Given the description of an element on the screen output the (x, y) to click on. 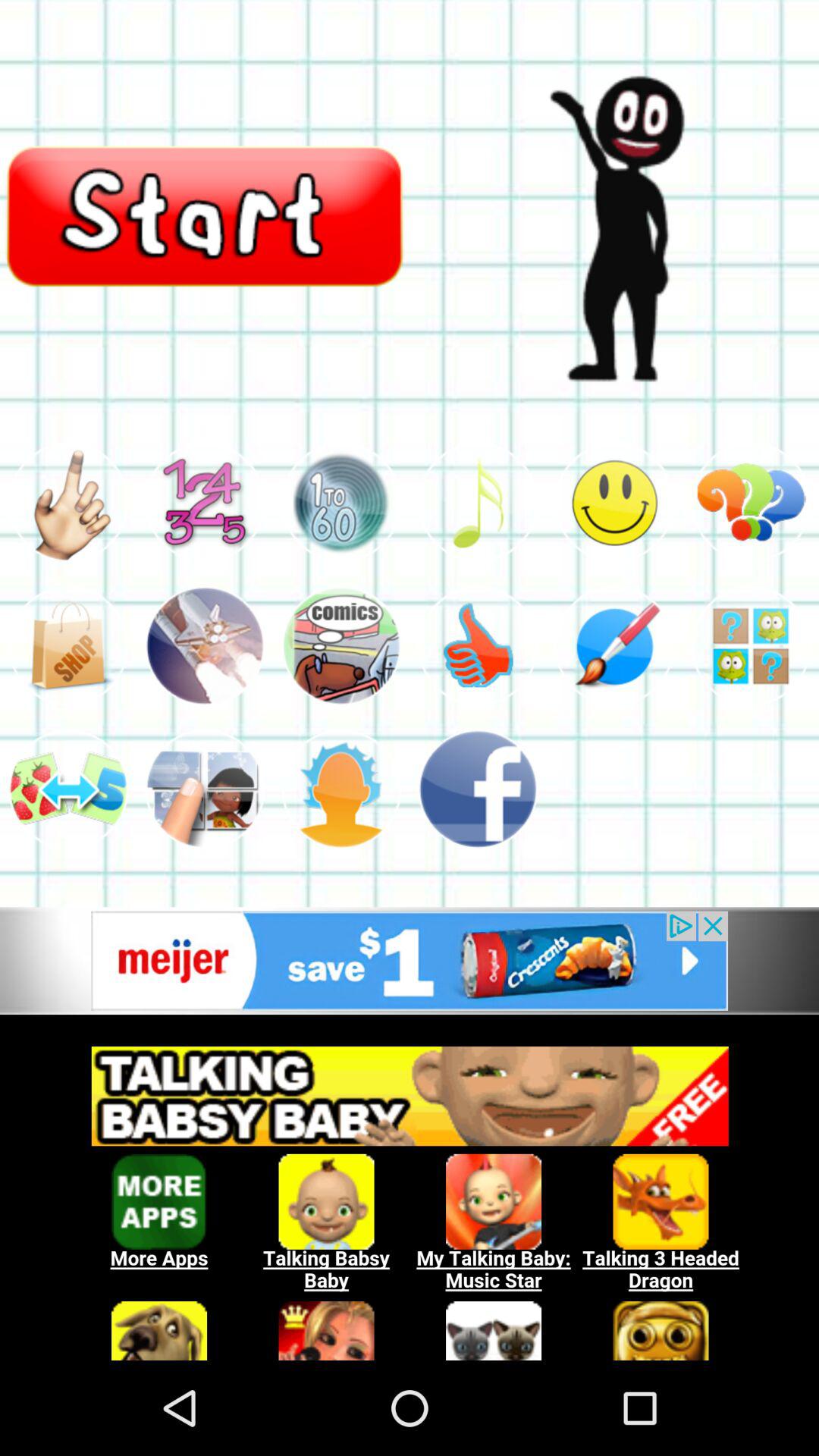
click to start (204, 215)
